Given the description of an element on the screen output the (x, y) to click on. 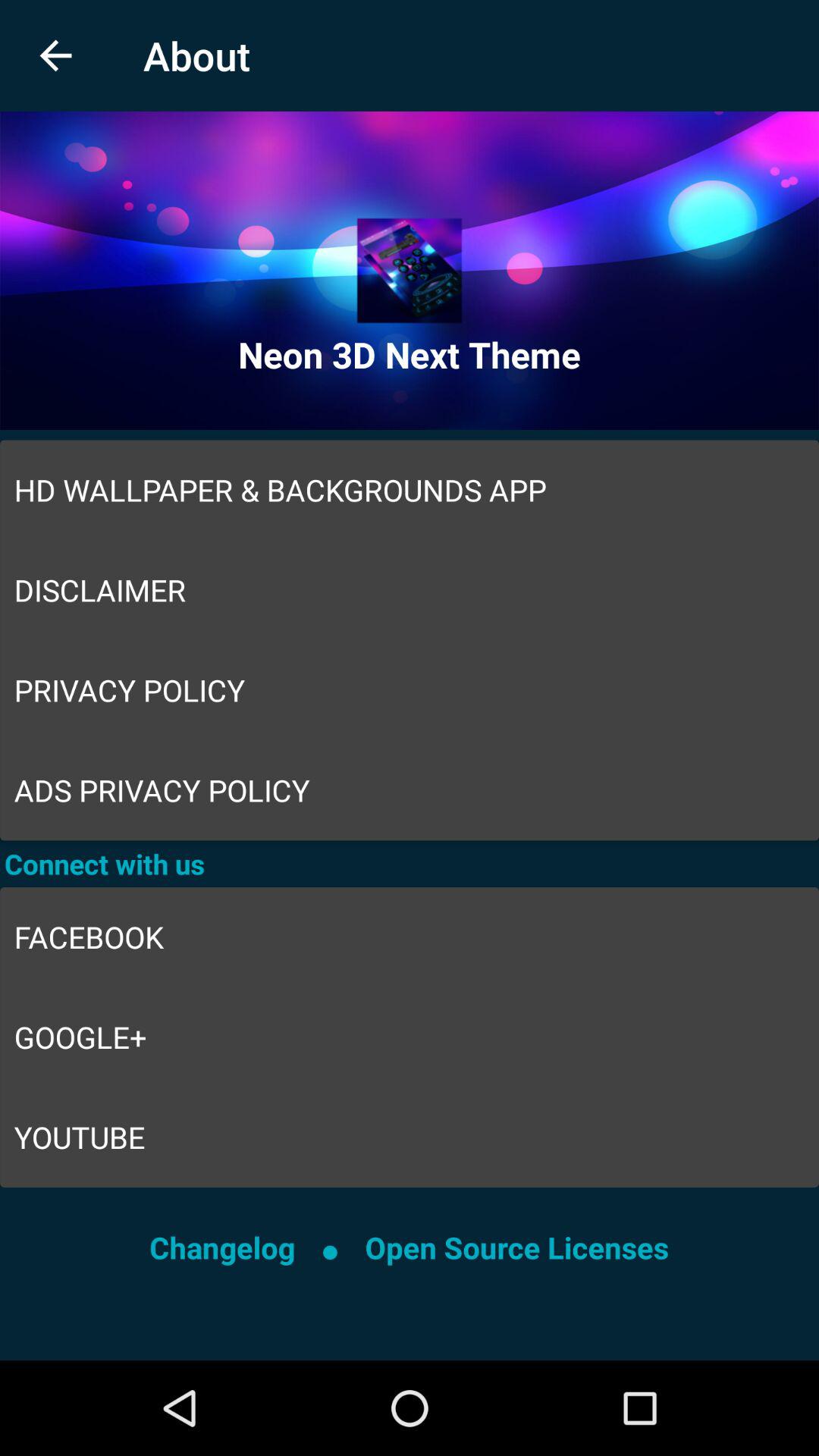
select icon below the google+ (409, 1137)
